Given the description of an element on the screen output the (x, y) to click on. 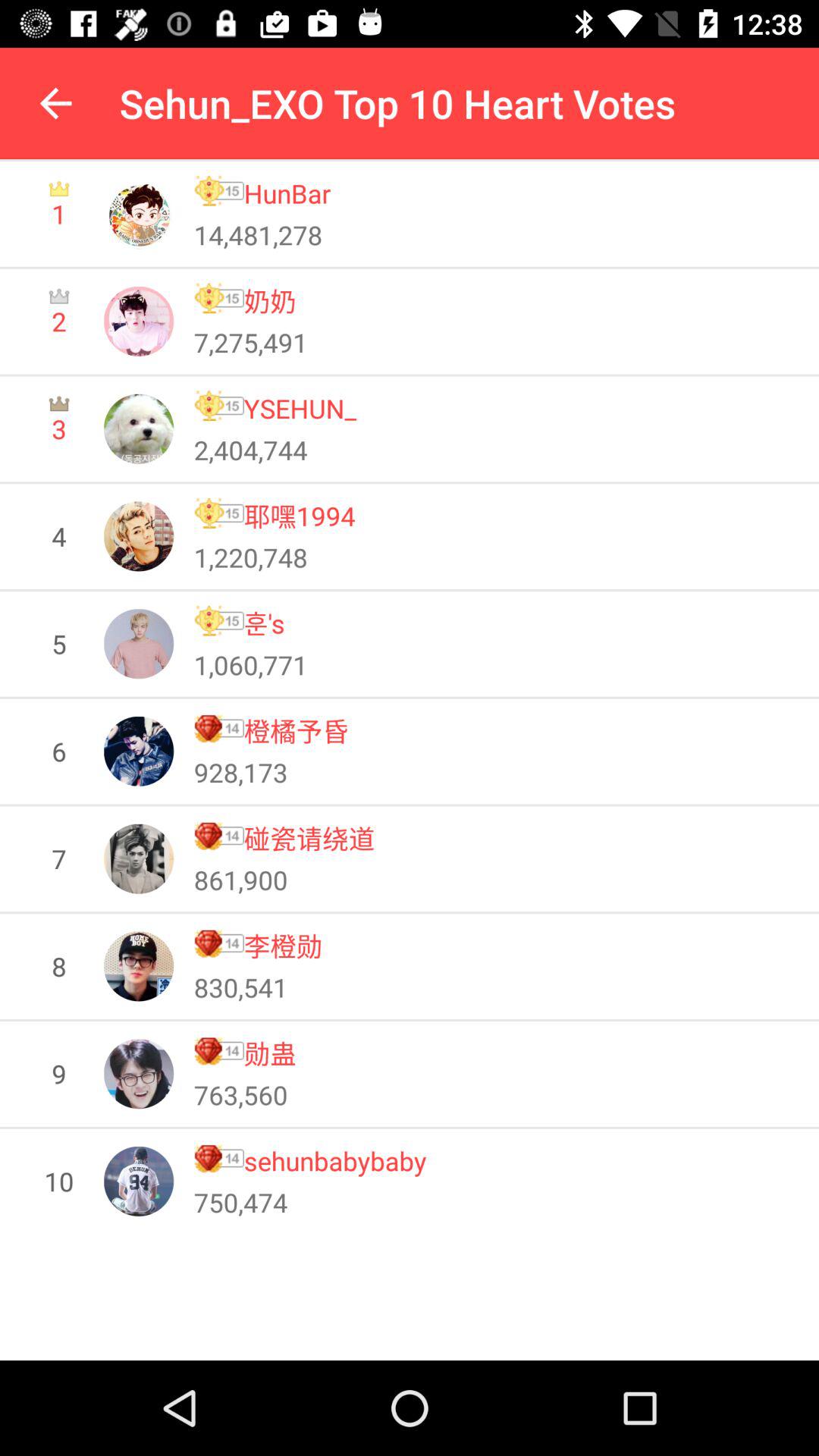
swipe until 4 item (58, 535)
